Given the description of an element on the screen output the (x, y) to click on. 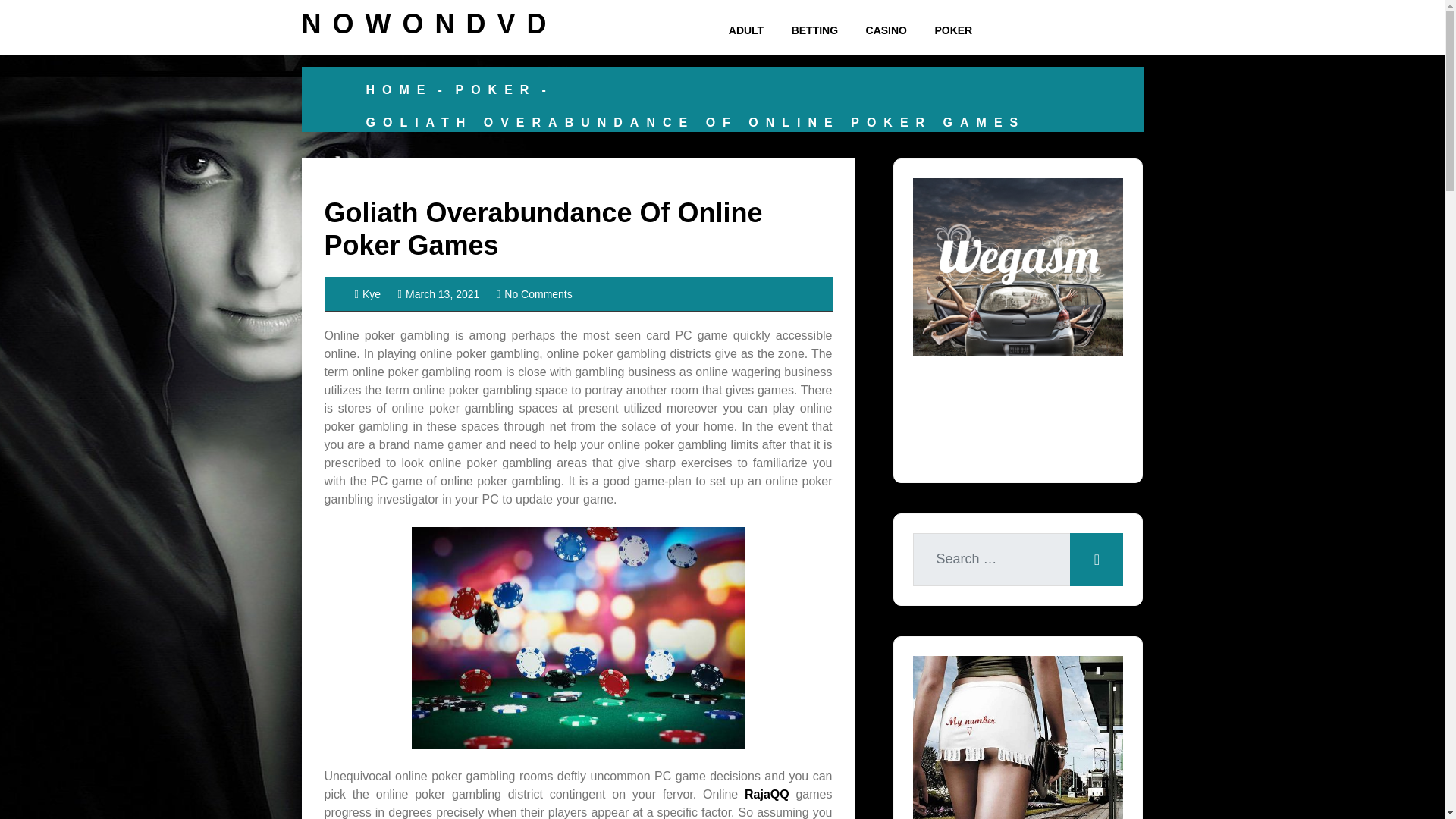
No Comments (534, 294)
HOME (398, 90)
RajaQQ (766, 793)
POKER (494, 90)
Goliath Overabundance Of Online Poker Games (543, 229)
March 13, 2021 (438, 294)
Kye (368, 294)
NOWONDVD (429, 23)
ADULT (746, 30)
POKER (952, 30)
